Given the description of an element on the screen output the (x, y) to click on. 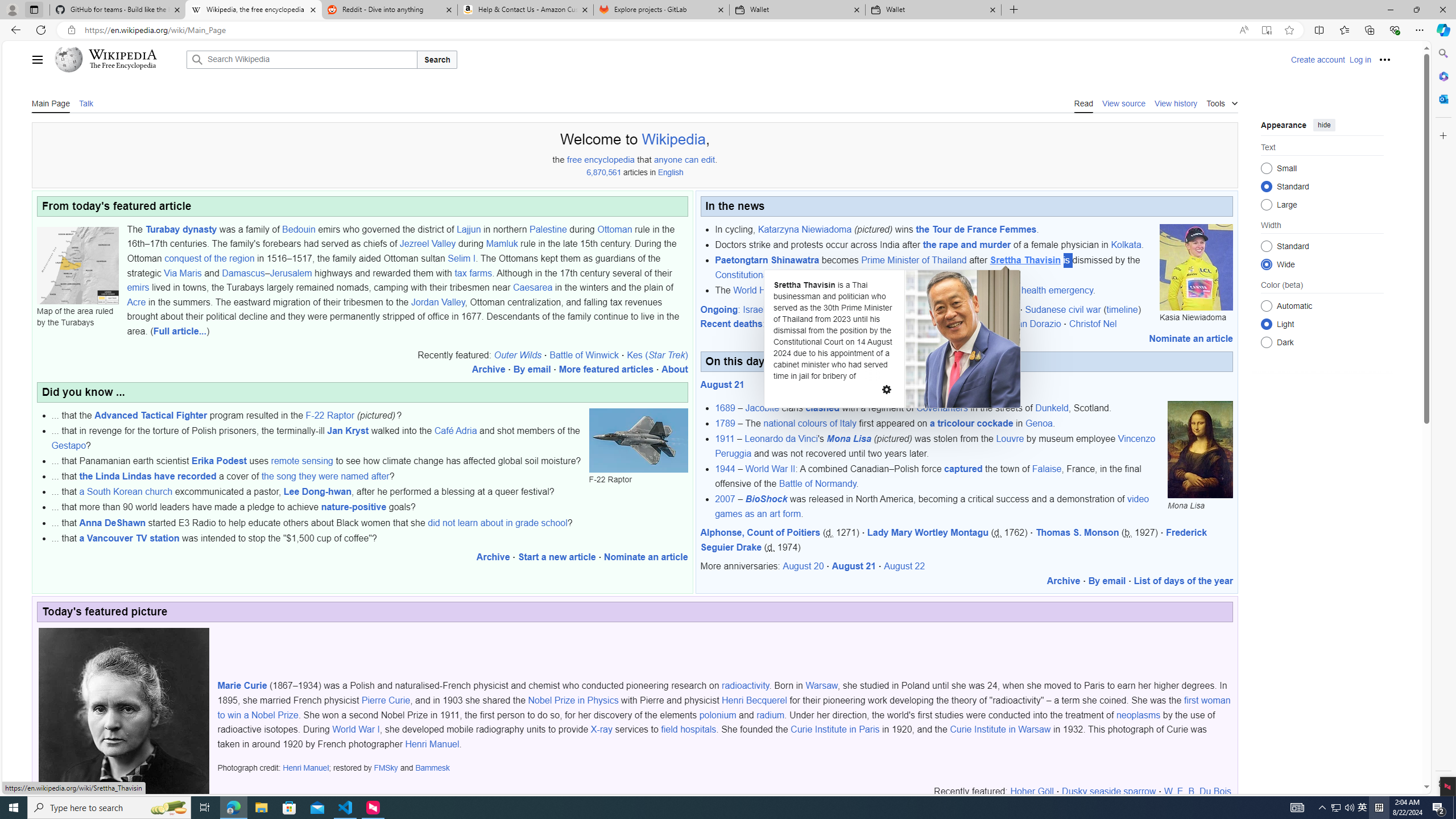
Mona Lisa (848, 438)
2007 (724, 498)
View history (1176, 102)
video games as an art form (931, 505)
View history (1176, 102)
About (674, 369)
Personal tools (1384, 59)
Srettha Thavisin (1025, 260)
clashed (822, 407)
Wikipedia (674, 139)
Map of the area ruled by the Turabays (77, 265)
